Given the description of an element on the screen output the (x, y) to click on. 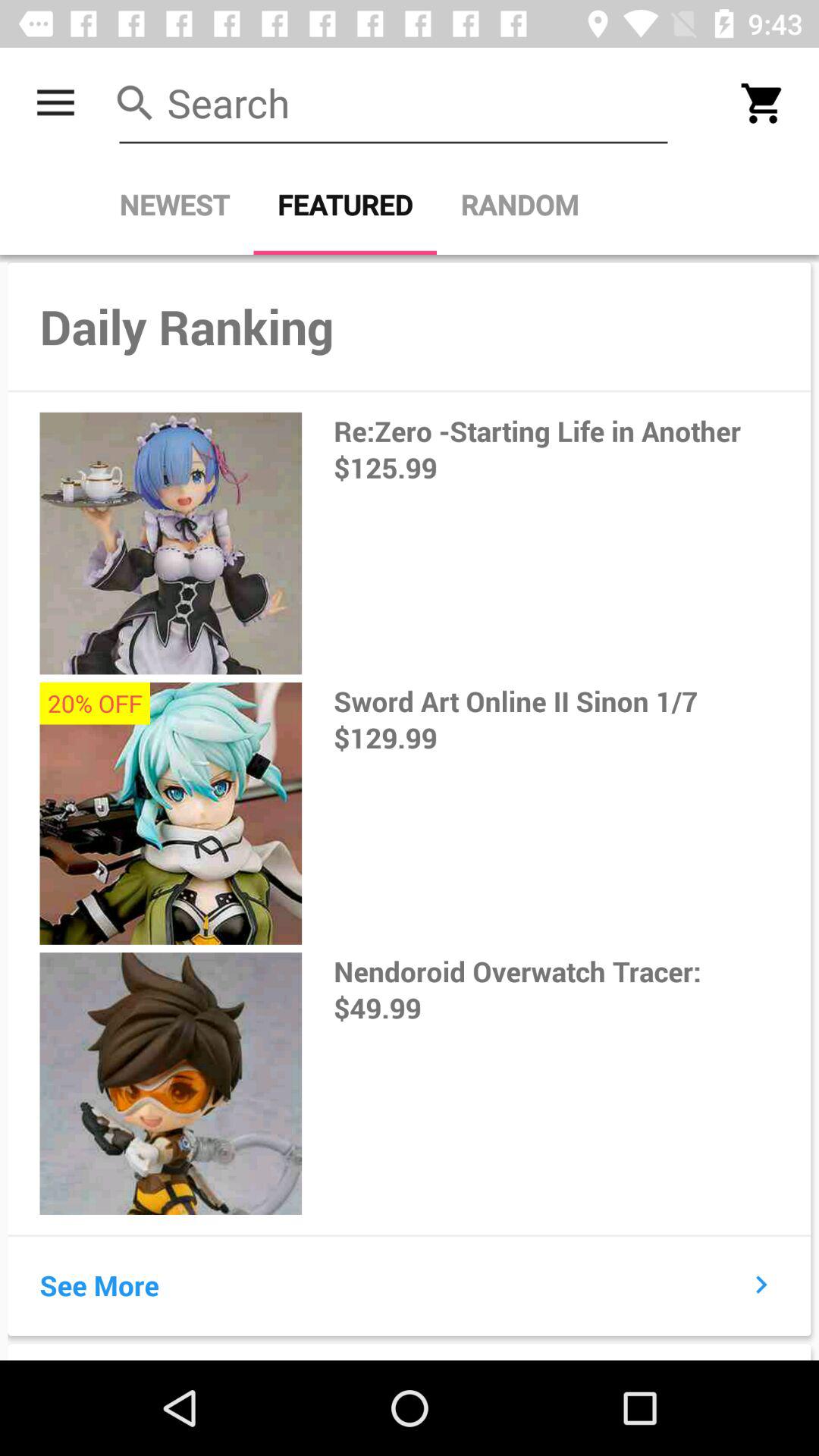
search store (393, 103)
